Given the description of an element on the screen output the (x, y) to click on. 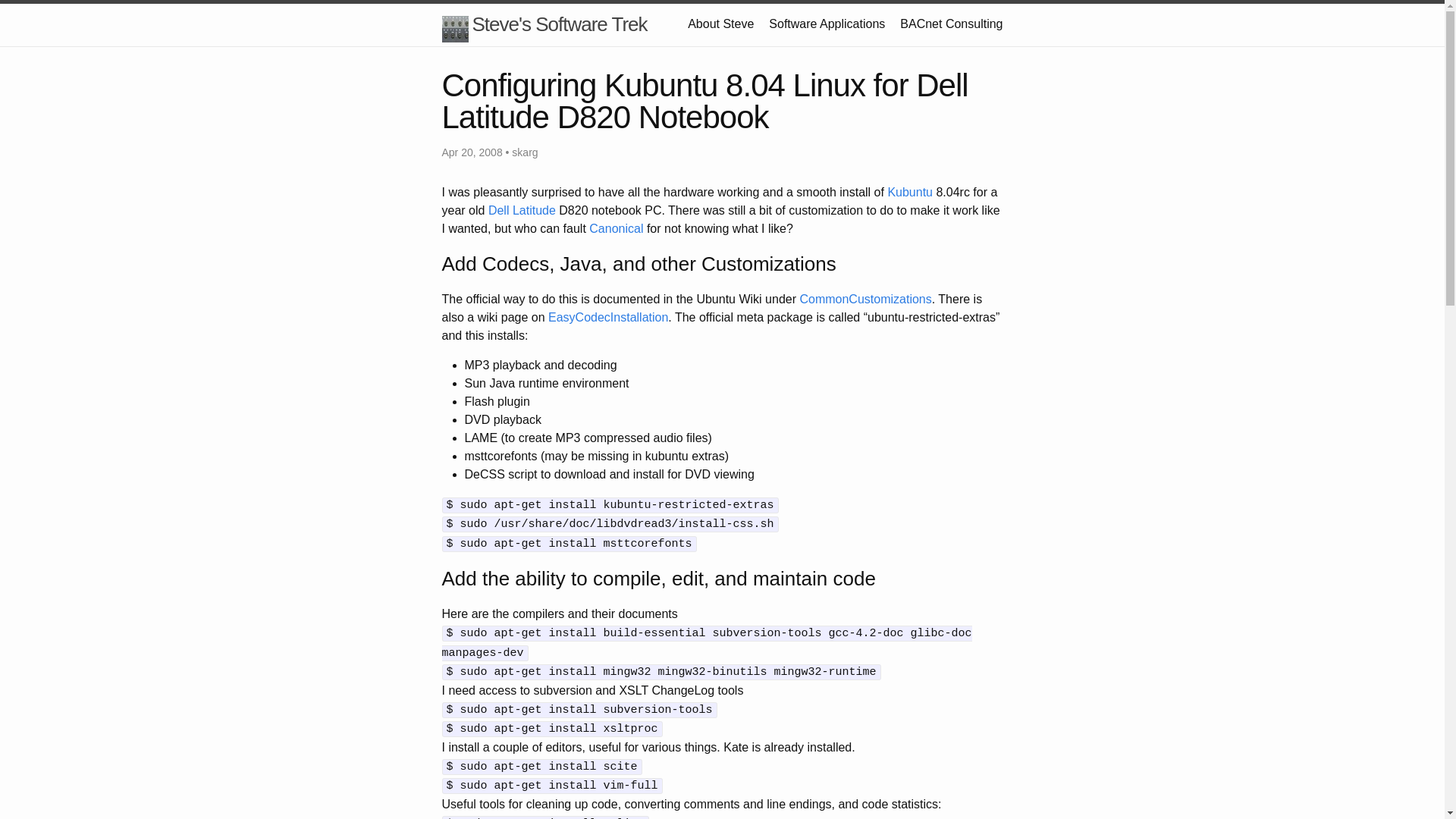
CommonCustomizations (865, 298)
Dell Latitude (521, 210)
Kubuntu (909, 192)
Steve's Software Trek (543, 24)
About Steve (720, 23)
Software Applications (826, 23)
EasyCodecInstallation (608, 317)
BACnet Consulting (951, 23)
Canonical (616, 228)
